Given the description of an element on the screen output the (x, y) to click on. 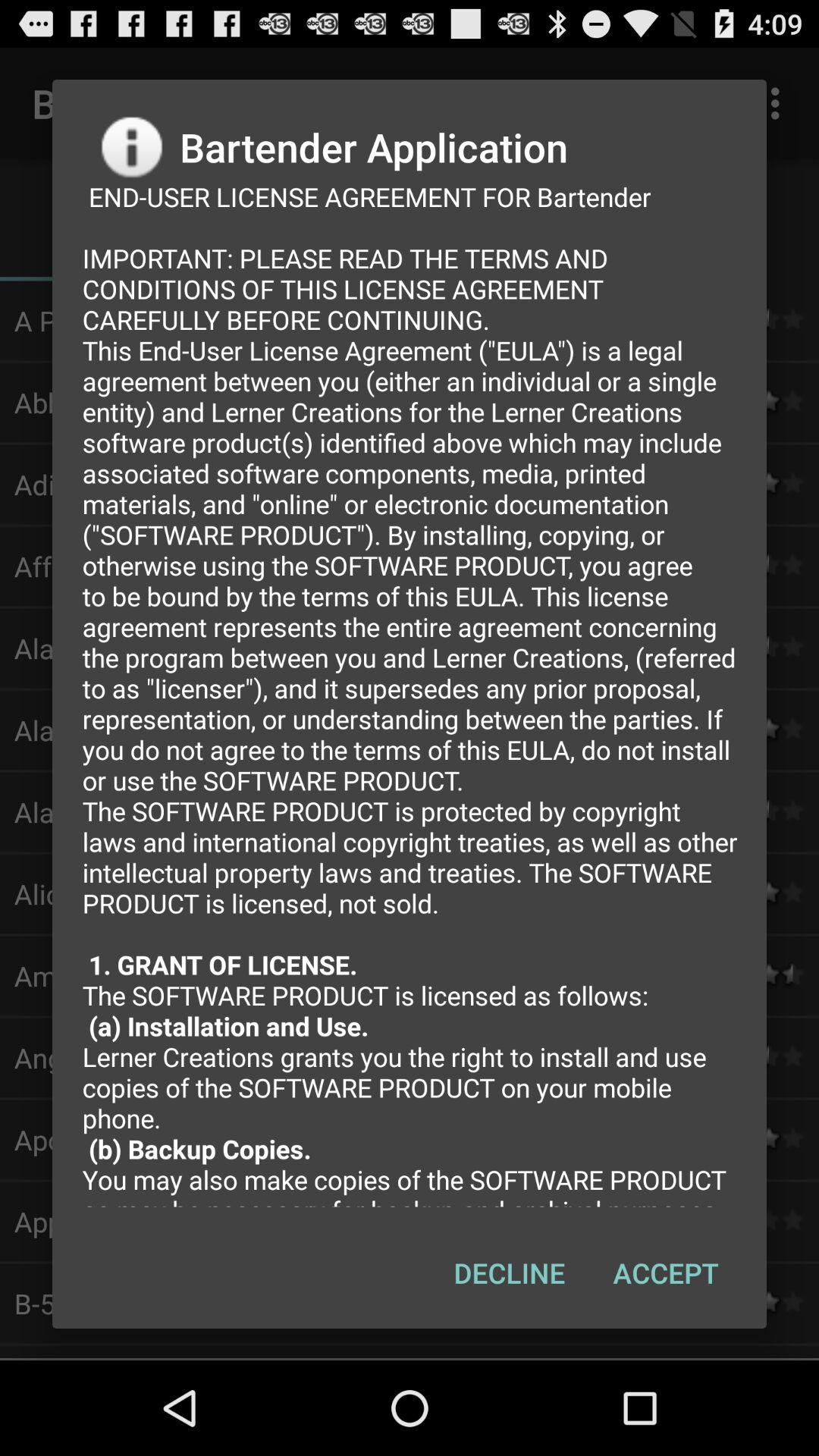
choose the item at the bottom right corner (665, 1272)
